Given the description of an element on the screen output the (x, y) to click on. 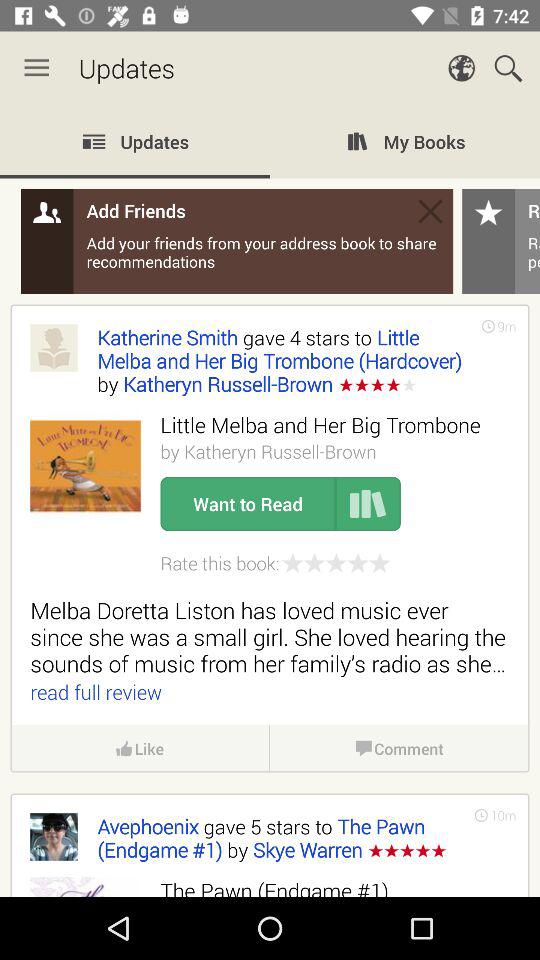
add friends to your account (270, 501)
